Given the description of an element on the screen output the (x, y) to click on. 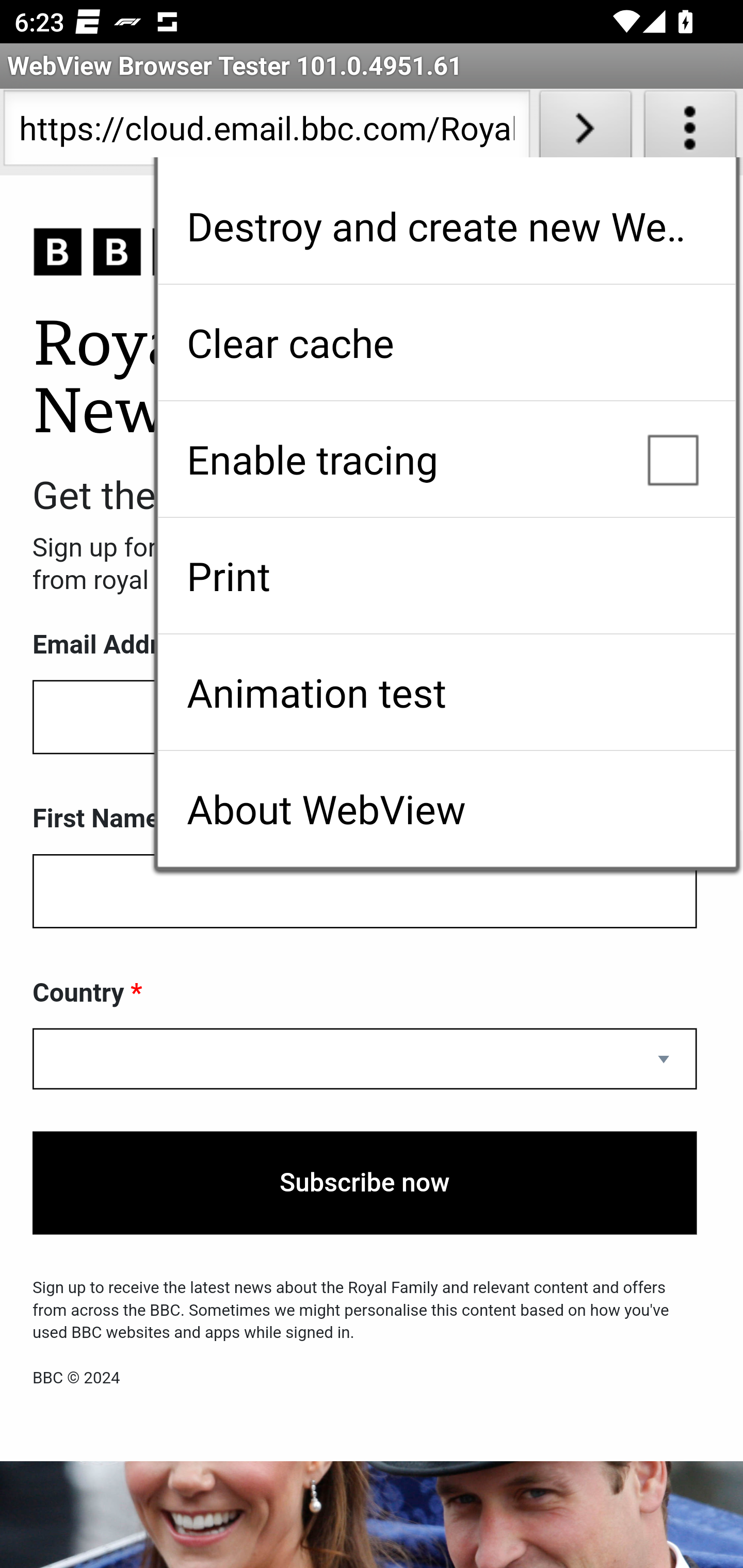
Destroy and create new WebView (446, 225)
Clear cache (446, 342)
Enable tracing (446, 459)
Print (446, 575)
Animation test (446, 692)
About WebView (446, 809)
